Given the description of an element on the screen output the (x, y) to click on. 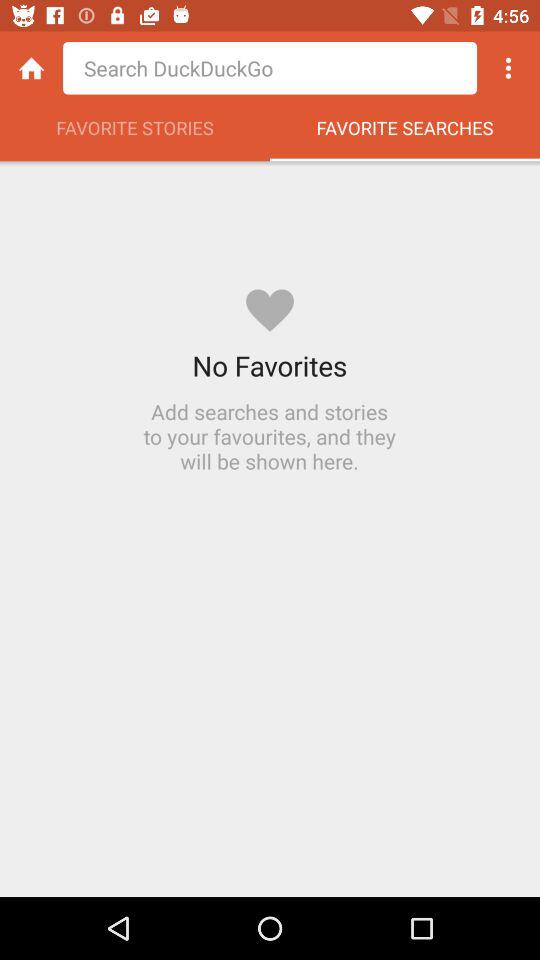
launch app to the right of the favorite stories (405, 133)
